Given the description of an element on the screen output the (x, y) to click on. 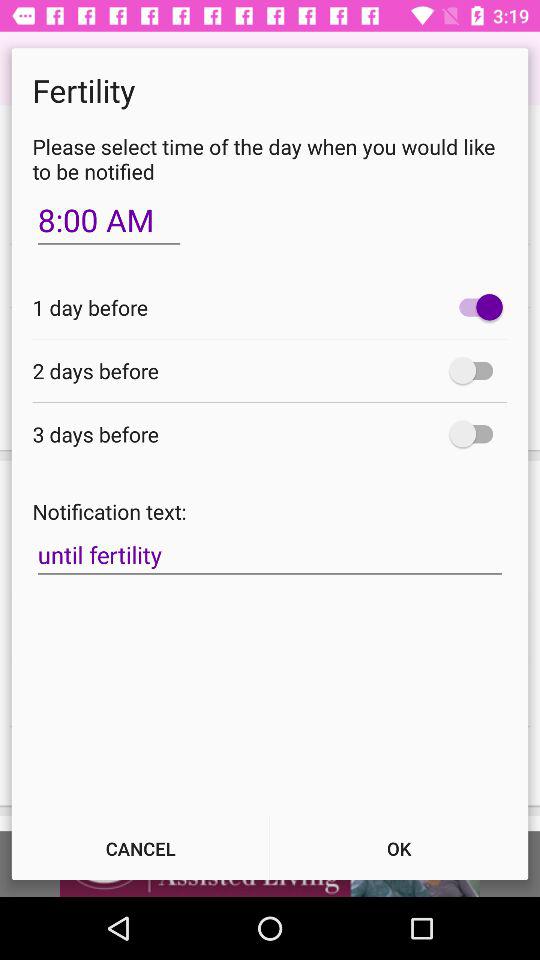
toggle on or off (476, 433)
